Given the description of an element on the screen output the (x, y) to click on. 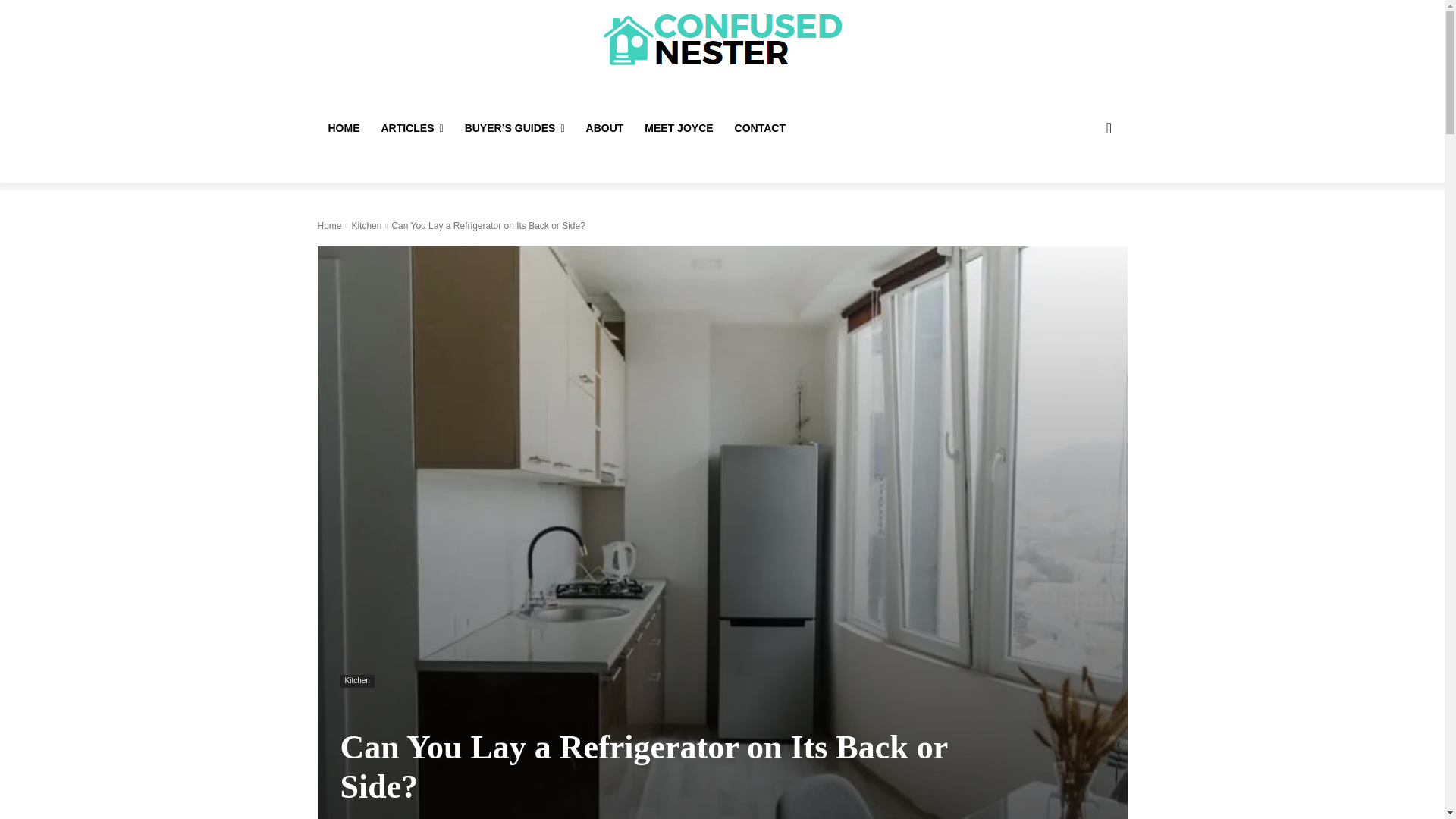
ABOUT (604, 127)
ARTICLES (410, 127)
MEET JOYCE (678, 127)
HOME (343, 127)
CONTACT (759, 127)
View all posts in Kitchen (365, 225)
